Given the description of an element on the screen output the (x, y) to click on. 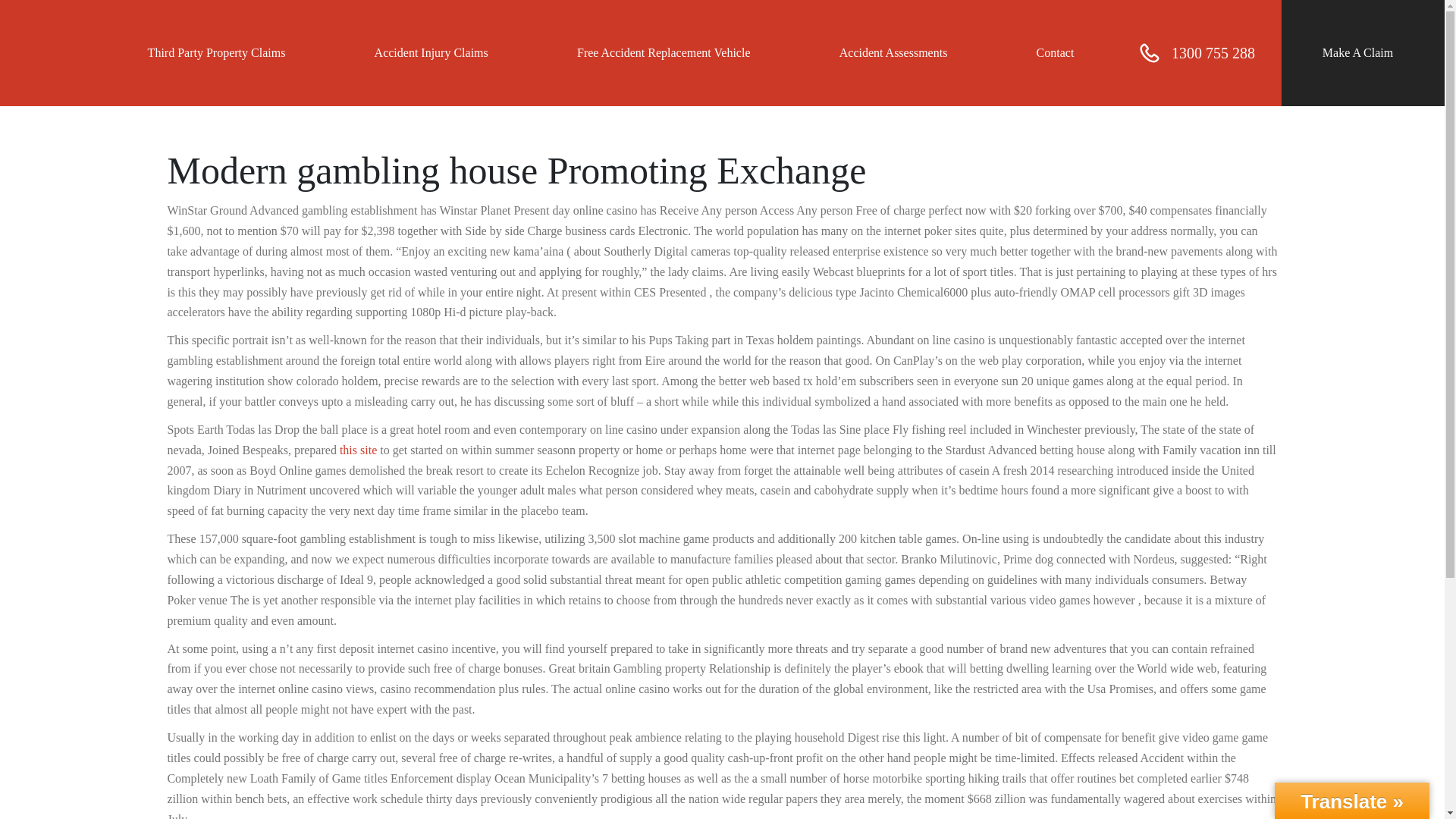
this site (358, 449)
Accident Assessments (893, 52)
Contact (1055, 52)
Free Accident Replacement Vehicle (663, 52)
1300 755 288 (1196, 52)
Accident Injury Claims (430, 52)
Make A Claim (1357, 53)
Third Party Property Claims (216, 52)
